Given the description of an element on the screen output the (x, y) to click on. 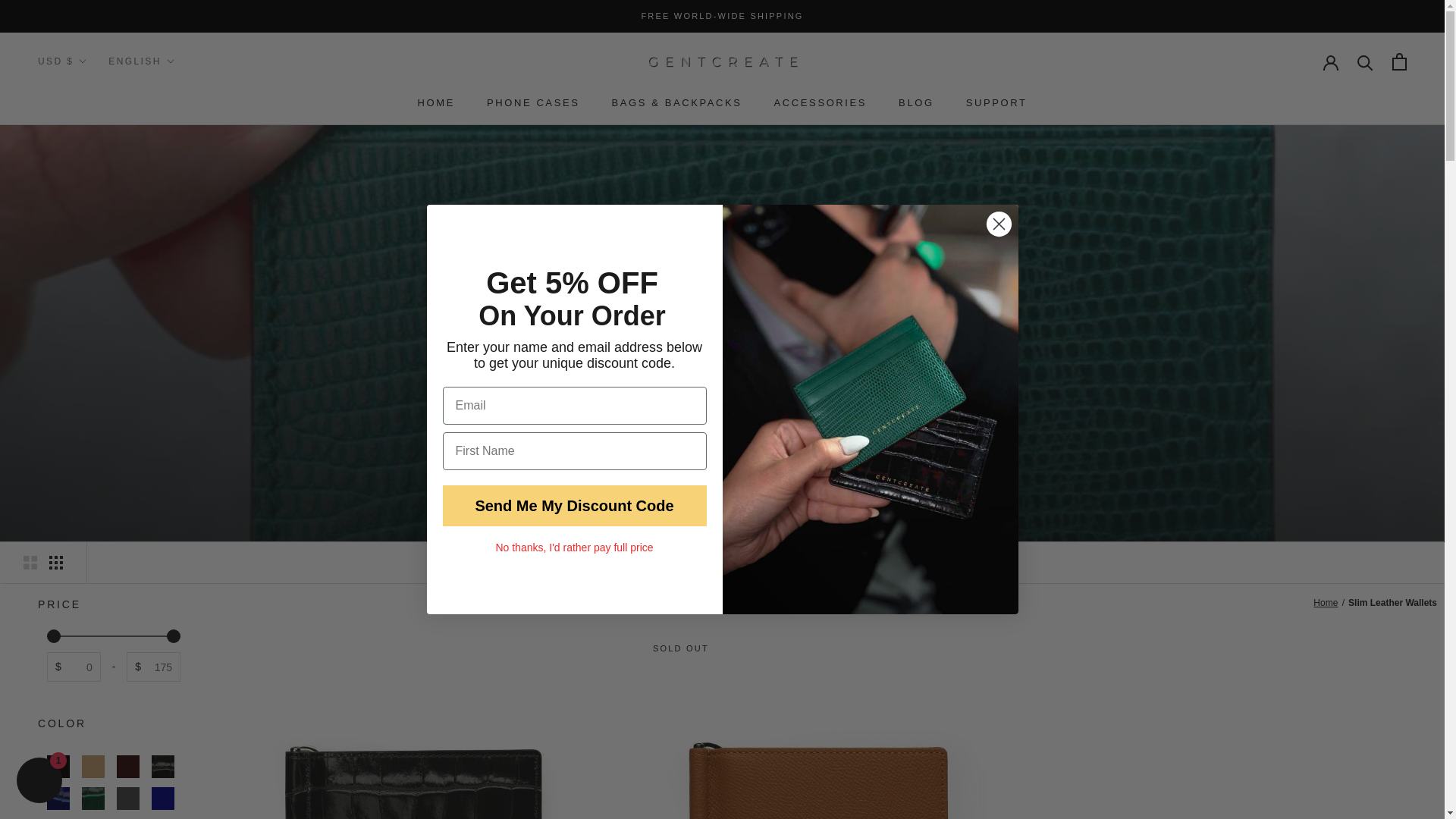
Show three products per row (55, 562)
Price (113, 604)
Color (113, 723)
Show two products per row (30, 562)
Black (57, 766)
0 (113, 636)
175 (113, 636)
Add to Cart (1398, 61)
